Given the description of an element on the screen output the (x, y) to click on. 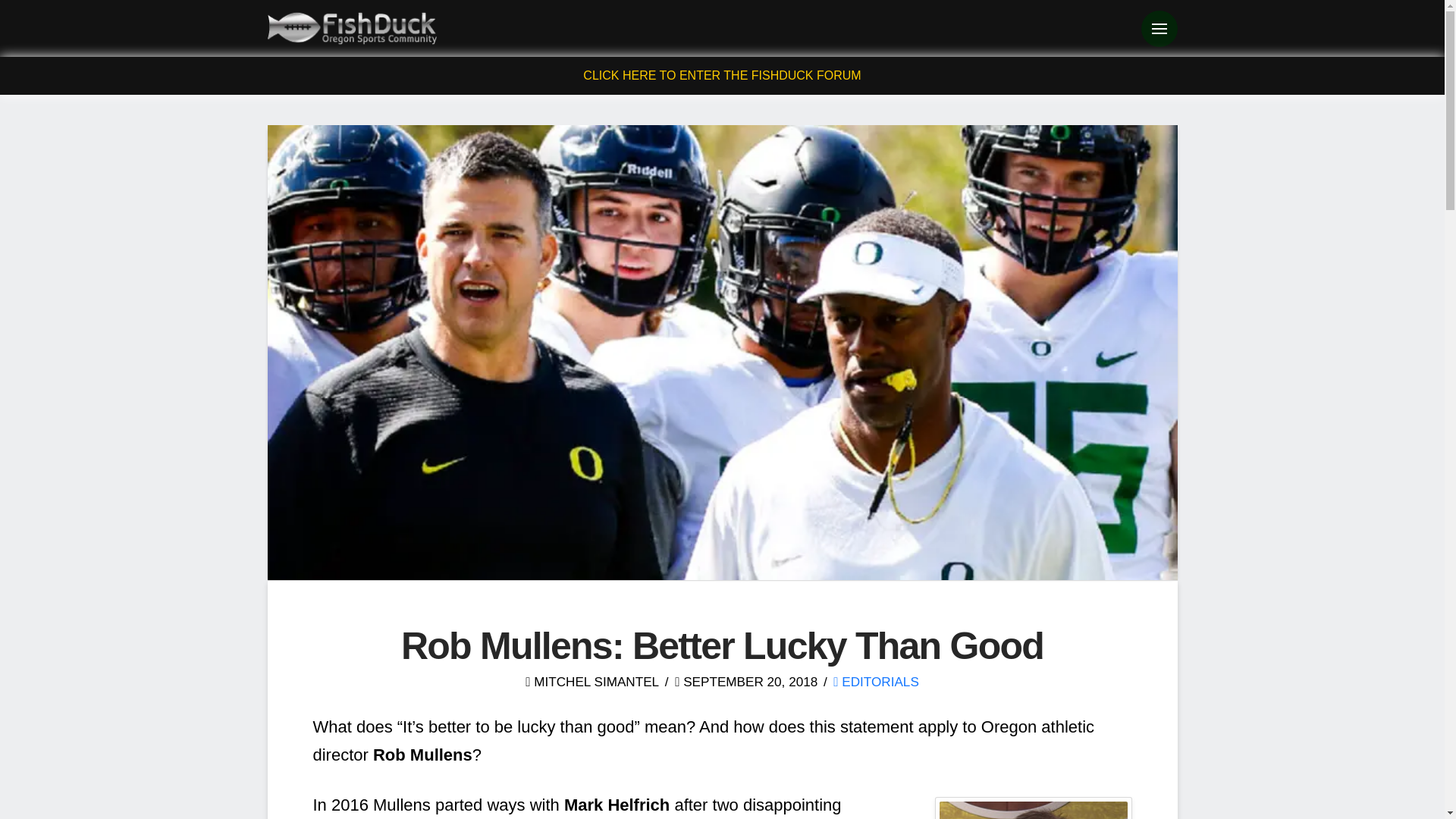
EDITORIALS (875, 680)
CLICK HERE TO ENTER THE FISHDUCK FORUM (721, 74)
